Given the description of an element on the screen output the (x, y) to click on. 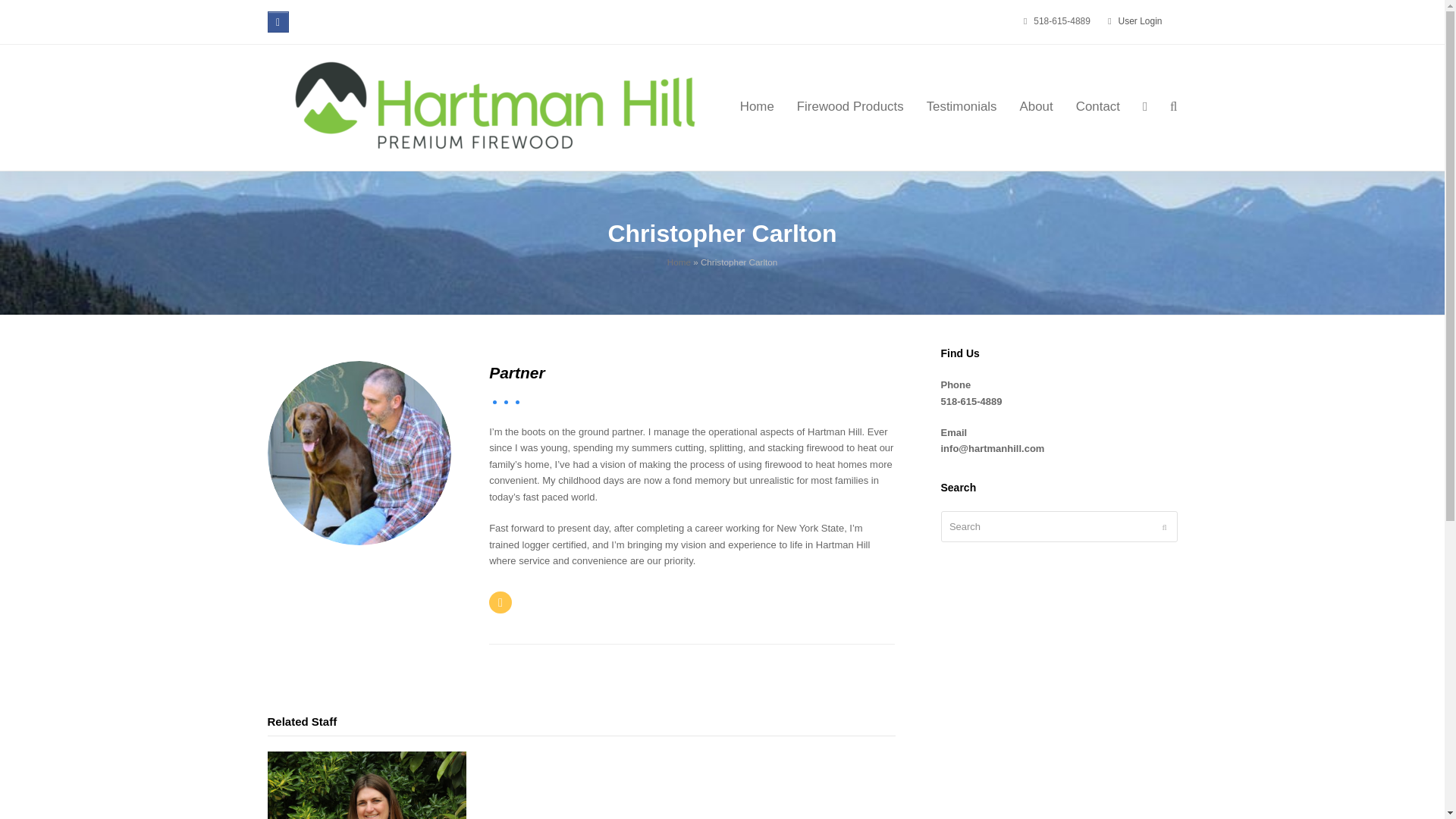
Email (500, 602)
Home (678, 261)
Firewood Products (850, 107)
User Login (1139, 20)
Testimonials (962, 107)
About (1036, 107)
Contact (1097, 107)
Facebook (277, 21)
Home (757, 107)
Facebook (277, 21)
